Given the description of an element on the screen output the (x, y) to click on. 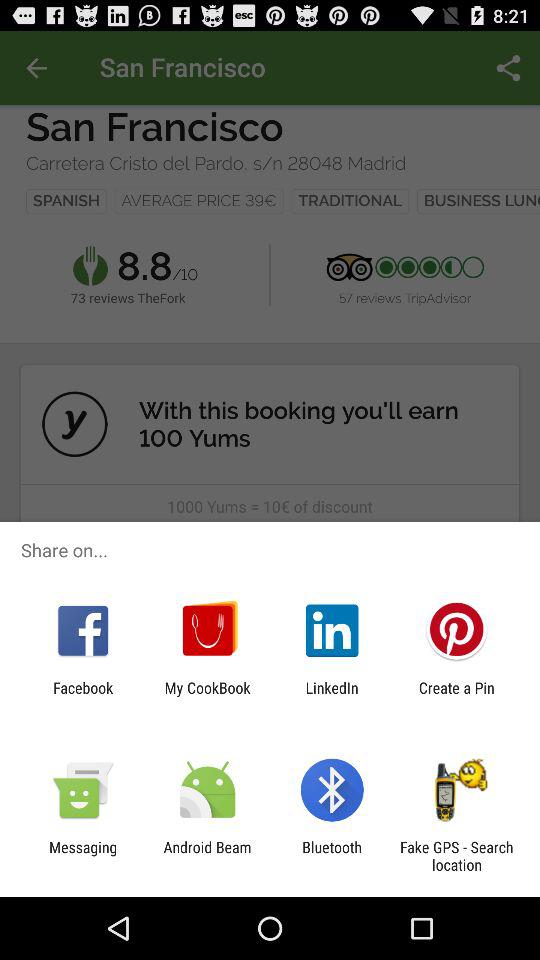
turn off the item to the right of the linkedin item (456, 696)
